Given the description of an element on the screen output the (x, y) to click on. 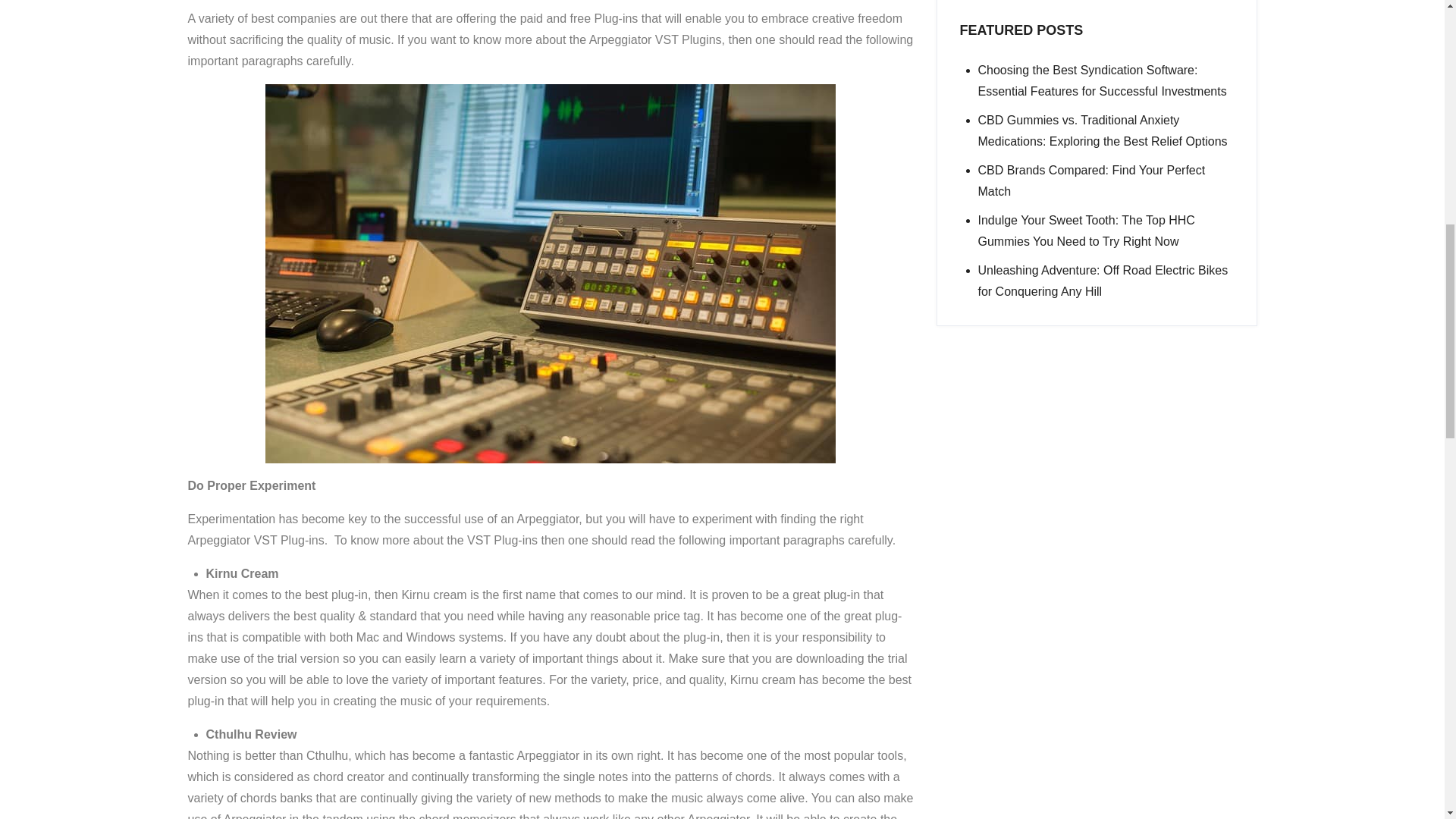
CBD Brands Compared: Find Your Perfect Match (1091, 180)
